Given the description of an element on the screen output the (x, y) to click on. 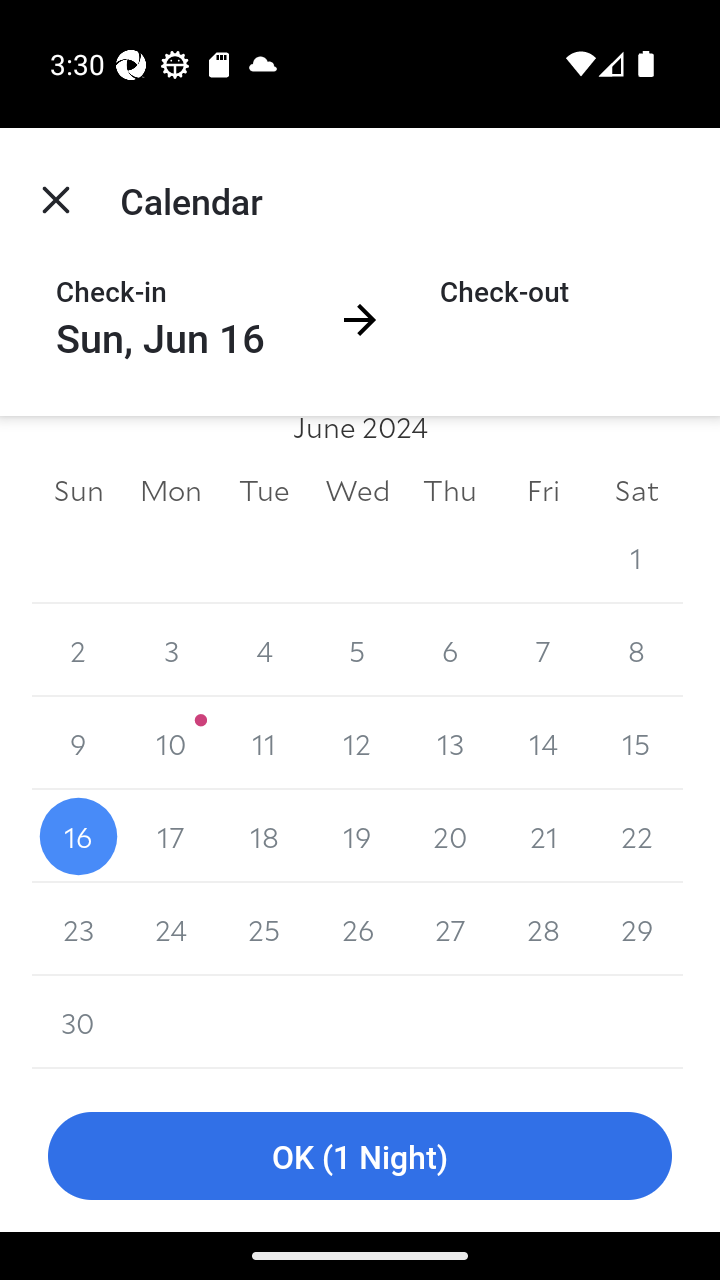
Sun (78, 489)
Mon (171, 489)
Tue (264, 489)
Wed (357, 489)
Thu (449, 489)
Fri (542, 489)
Sat (636, 489)
1 1 June 2024 (636, 557)
2 2 June 2024 (78, 650)
3 3 June 2024 (171, 650)
4 4 June 2024 (264, 650)
5 5 June 2024 (357, 650)
6 6 June 2024 (449, 650)
7 7 June 2024 (542, 650)
8 8 June 2024 (636, 650)
9 9 June 2024 (78, 743)
10 10 June 2024 (171, 743)
11 11 June 2024 (264, 743)
12 12 June 2024 (357, 743)
13 13 June 2024 (449, 743)
14 14 June 2024 (542, 743)
15 15 June 2024 (636, 743)
16 16 June 2024 (78, 836)
17 17 June 2024 (171, 836)
18 18 June 2024 (264, 836)
19 19 June 2024 (357, 836)
20 20 June 2024 (449, 836)
21 21 June 2024 (542, 836)
22 22 June 2024 (636, 836)
23 23 June 2024 (78, 929)
24 24 June 2024 (171, 929)
25 25 June 2024 (264, 929)
26 26 June 2024 (357, 929)
27 27 June 2024 (449, 929)
28 28 June 2024 (542, 929)
29 29 June 2024 (636, 929)
30 30 June 2024 (78, 1021)
OK (1 Night) (359, 1156)
